Given the description of an element on the screen output the (x, y) to click on. 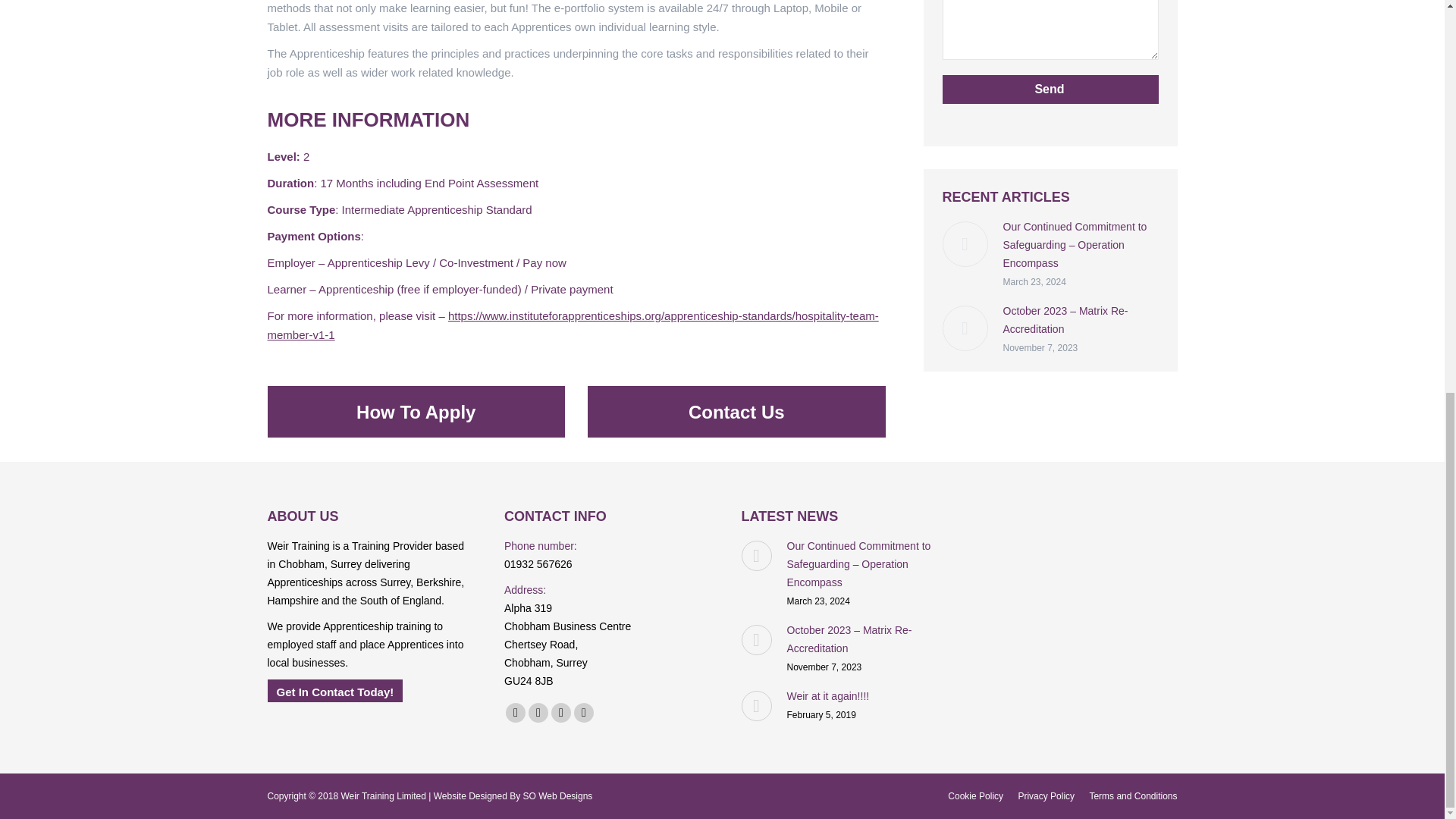
Linkedin page opens in new window (583, 712)
Send (1049, 89)
YouTube page opens in new window (560, 712)
Facebook page opens in new window (515, 712)
Twitter page opens in new window (538, 712)
